Given the description of an element on the screen output the (x, y) to click on. 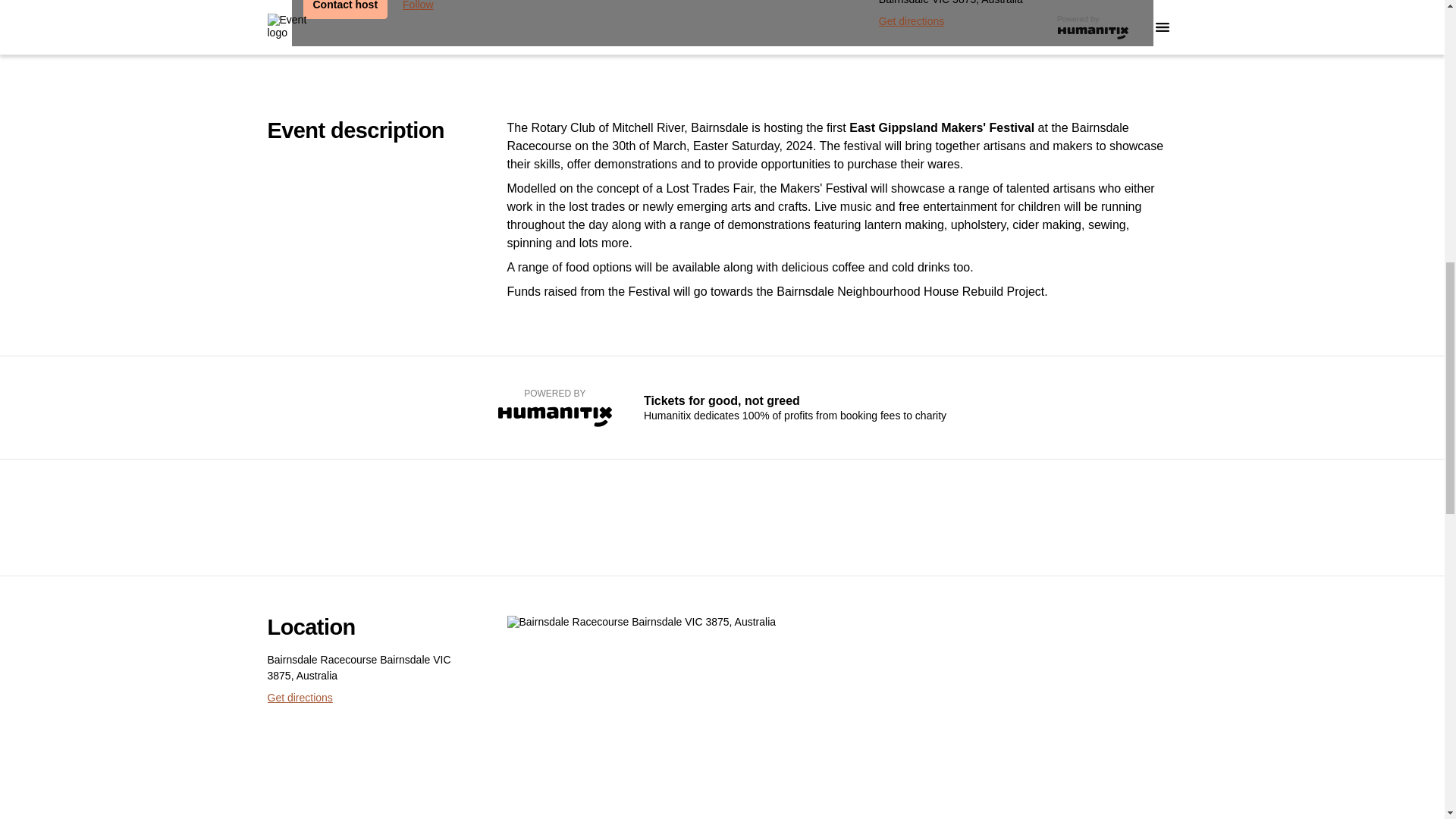
Get directions (298, 697)
Get directions (911, 21)
Follow (417, 9)
